Given the description of an element on the screen output the (x, y) to click on. 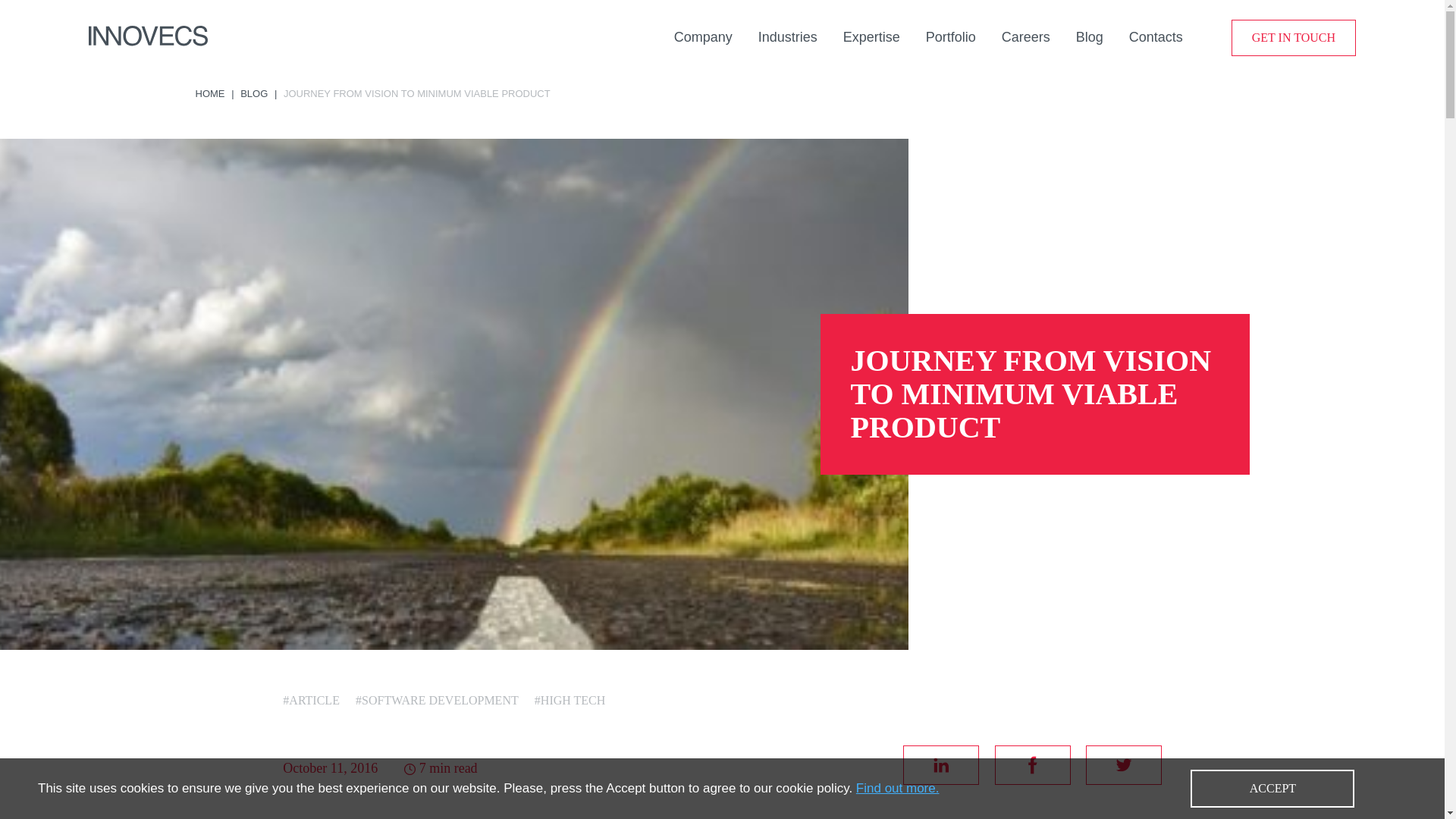
Company (703, 36)
HOME (210, 93)
Contacts (1155, 36)
Blog (1089, 36)
Expertise (871, 36)
Careers (1025, 36)
Portfolio (950, 36)
BLOG (253, 93)
